Given the description of an element on the screen output the (x, y) to click on. 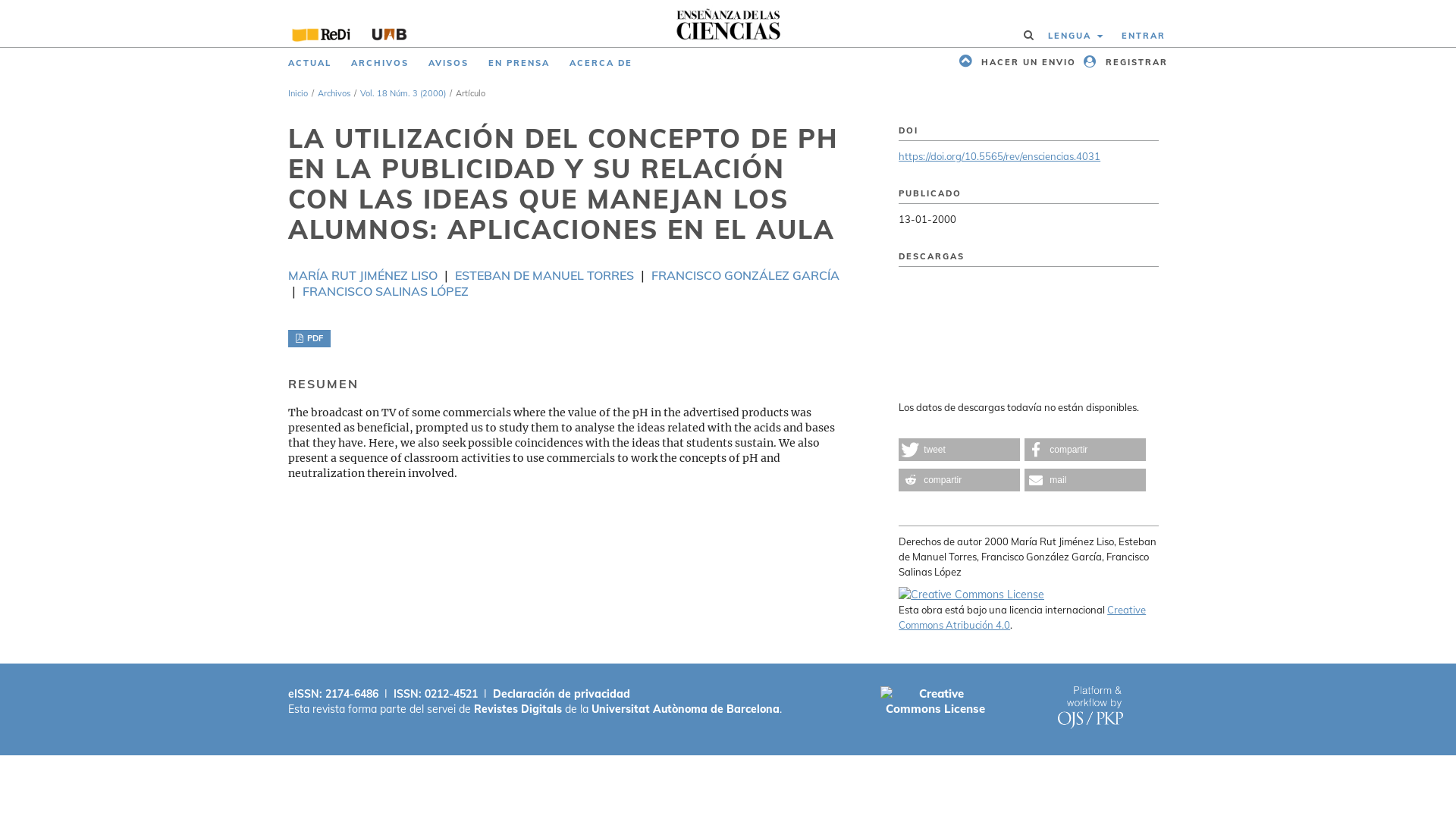
mail Element type: text (1084, 479)
PDF Element type: text (309, 338)
tweet Element type: text (958, 449)
Inicio Element type: text (297, 93)
ACERCA DE Element type: text (600, 62)
HACER UN ENVIO Element type: text (1015, 62)
compartir Element type: text (1084, 449)
EN PRENSA Element type: text (518, 62)
ARCHIVOS Element type: text (379, 62)
compartir Element type: text (958, 479)
https://doi.org/10.5565/rev/ensciencias.4031 Element type: text (999, 156)
AVISOS Element type: text (448, 62)
Archivos Element type: text (333, 93)
REGISTRAR Element type: text (1123, 62)
LENGUA Element type: text (1075, 35)
ENTRAR Element type: text (1139, 35)
ACTUAL Element type: text (309, 62)
Revistes Digitals Element type: text (517, 708)
